Given the description of an element on the screen output the (x, y) to click on. 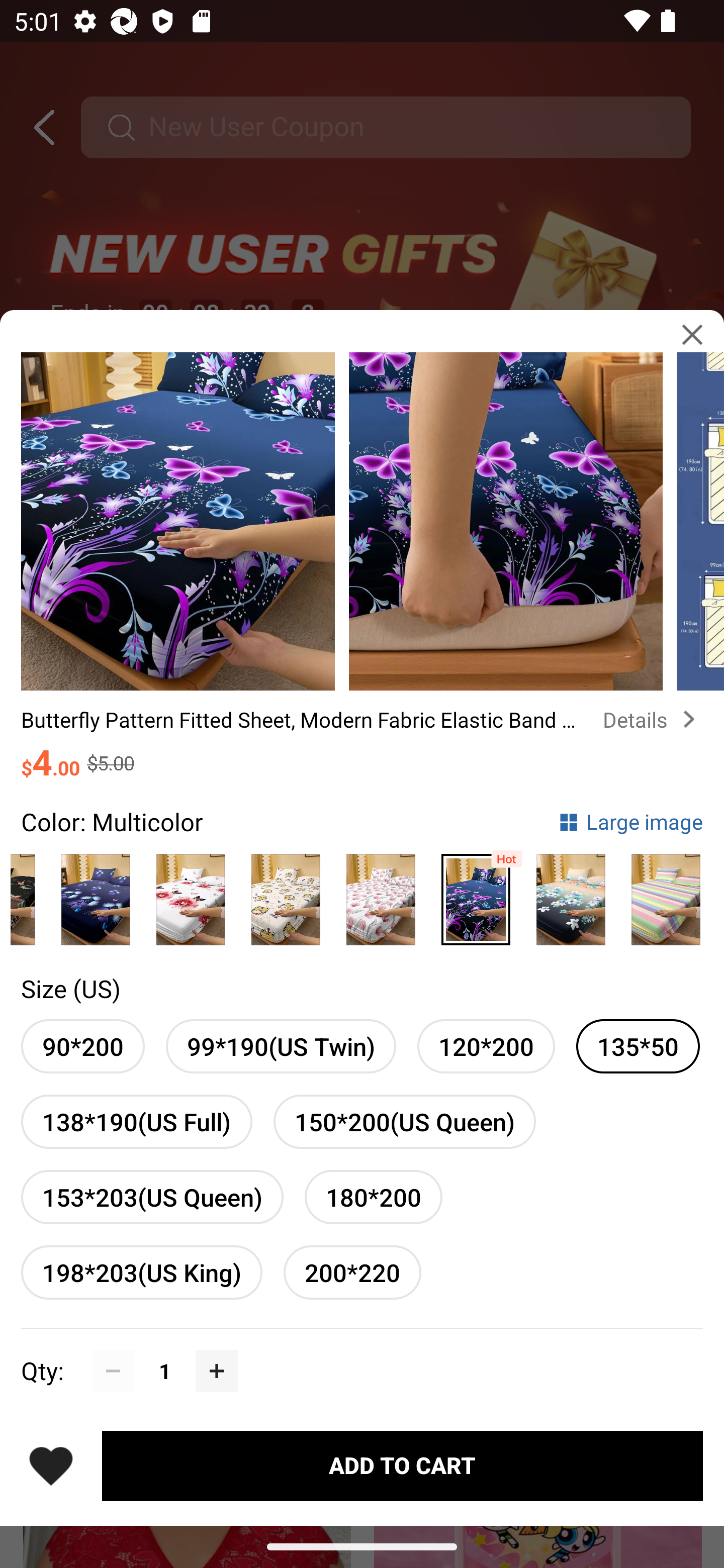
Details (653, 719)
Color: Multicolor (111, 821)
Large image (630, 821)
Multicolor (95, 894)
Multicolor (190, 894)
Multicolor (285, 894)
Multicolor (380, 894)
Multicolor (475, 894)
Multicolor (570, 894)
Multicolor (665, 894)
Size (US) (70, 988)
90*200 90*200unselected option (82, 1046)
99*190(US Twin) 99*190(US Twin)unselected option (280, 1046)
120*200 120*200unselected option (486, 1046)
135*50 135*50selected option (638, 1046)
138*190(US Full) 138*190(US Full)unselected option (136, 1121)
180*200 180*200unselected option (373, 1196)
198*203(US King) 198*203(US King)unselected option (141, 1271)
200*220 200*220unselected option (352, 1271)
ADD TO CART (402, 1465)
Save (50, 1465)
